Given the description of an element on the screen output the (x, y) to click on. 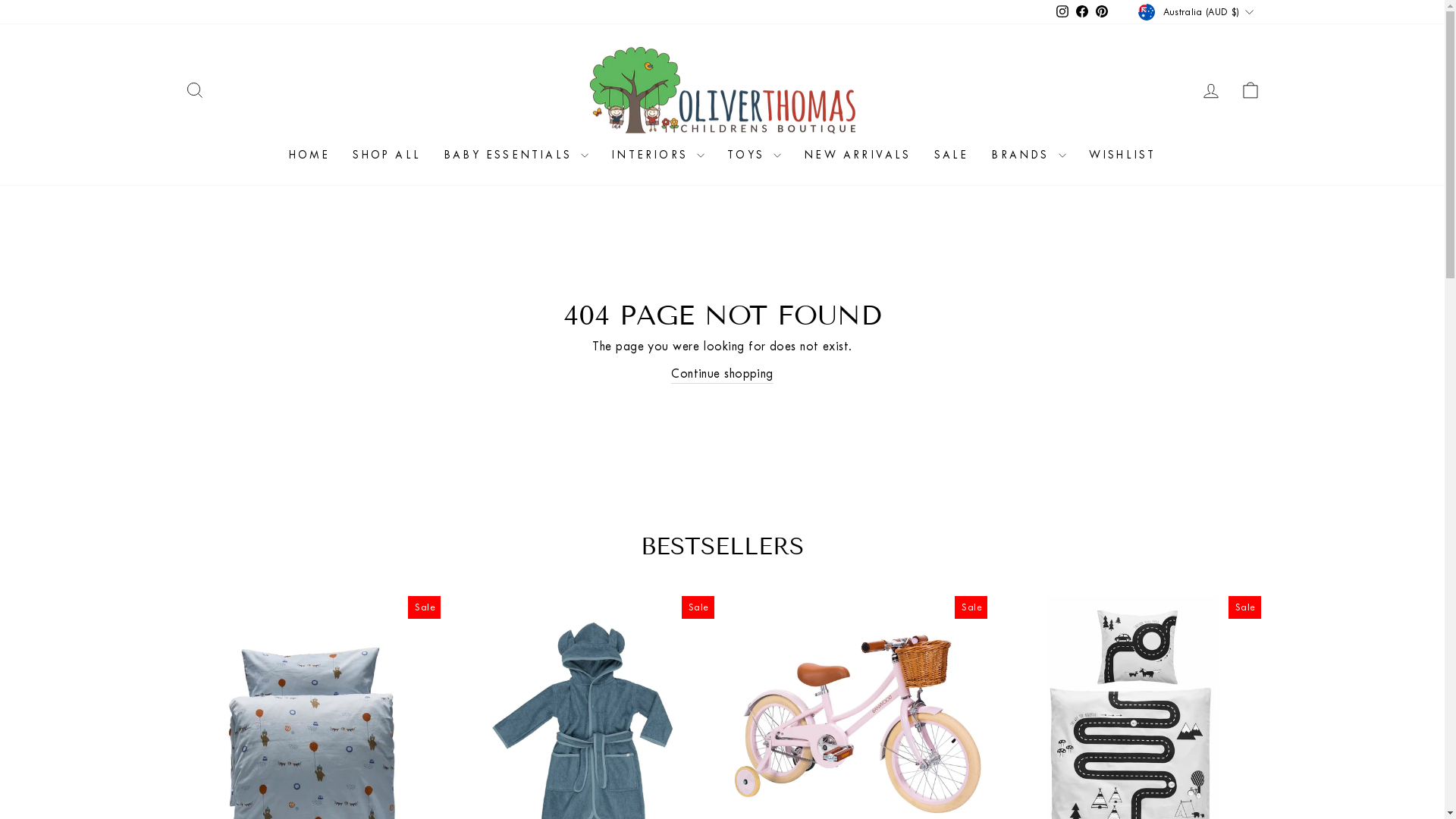
WISHLIST Element type: text (1122, 155)
Facebook Element type: text (1082, 11)
HOME Element type: text (309, 155)
ICON-SEARCH
SEARCH Element type: text (193, 90)
ICON-BAG-MINIMAL
CART Element type: text (1249, 90)
Australia (AUD $) Element type: text (1197, 12)
SHOP ALL Element type: text (386, 155)
SALE Element type: text (951, 155)
ACCOUNT
LOG IN Element type: text (1210, 90)
instagram
Instagram Element type: text (1062, 11)
NEW ARRIVALS Element type: text (857, 155)
Pinterest Element type: text (1101, 11)
Continue shopping Element type: text (722, 373)
